Given the description of an element on the screen output the (x, y) to click on. 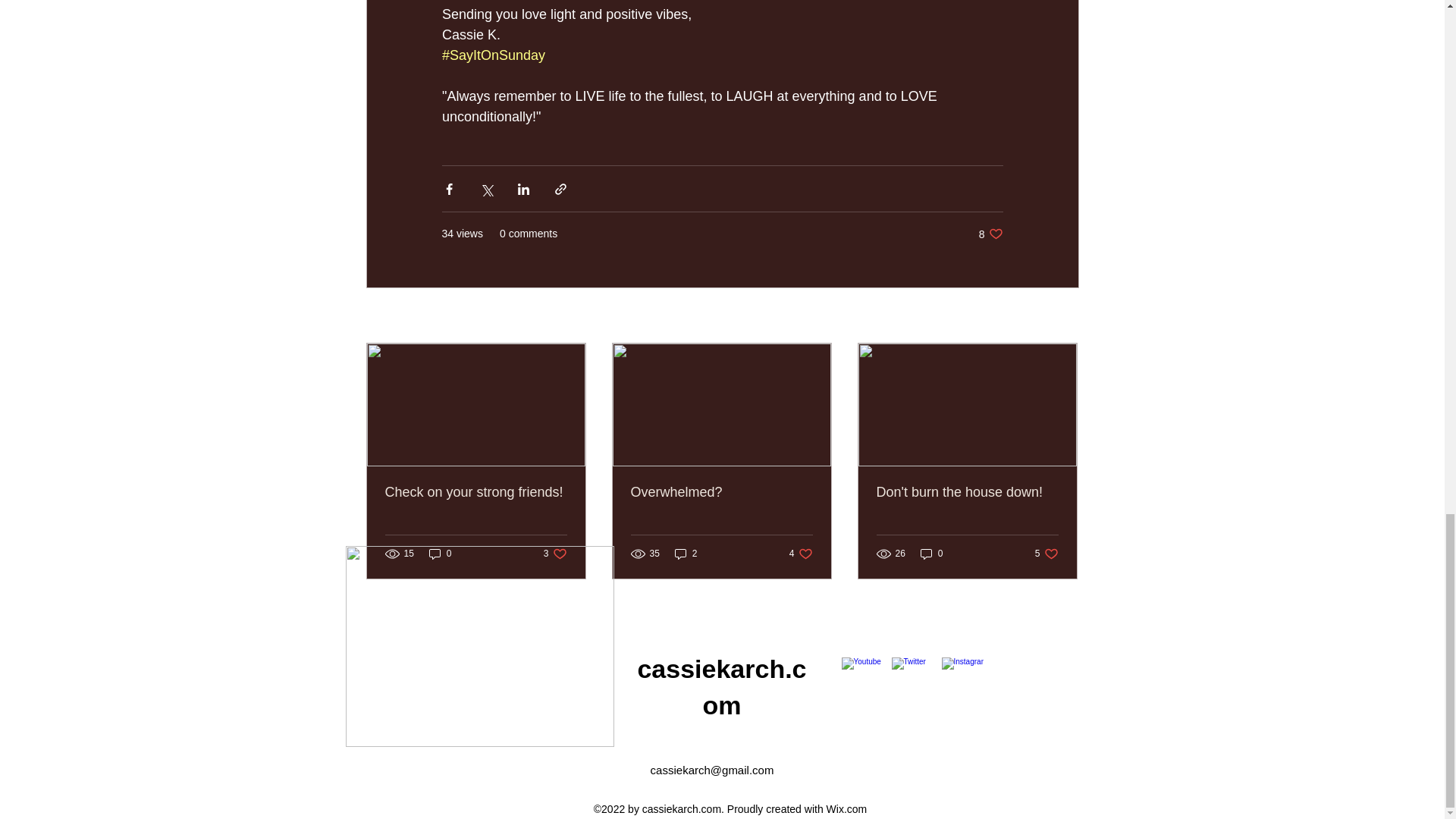
See All (1061, 316)
Overwhelmed? (555, 553)
0 (990, 233)
Check on your strong friends! (721, 492)
2 (800, 553)
0 (931, 553)
